Given the description of an element on the screen output the (x, y) to click on. 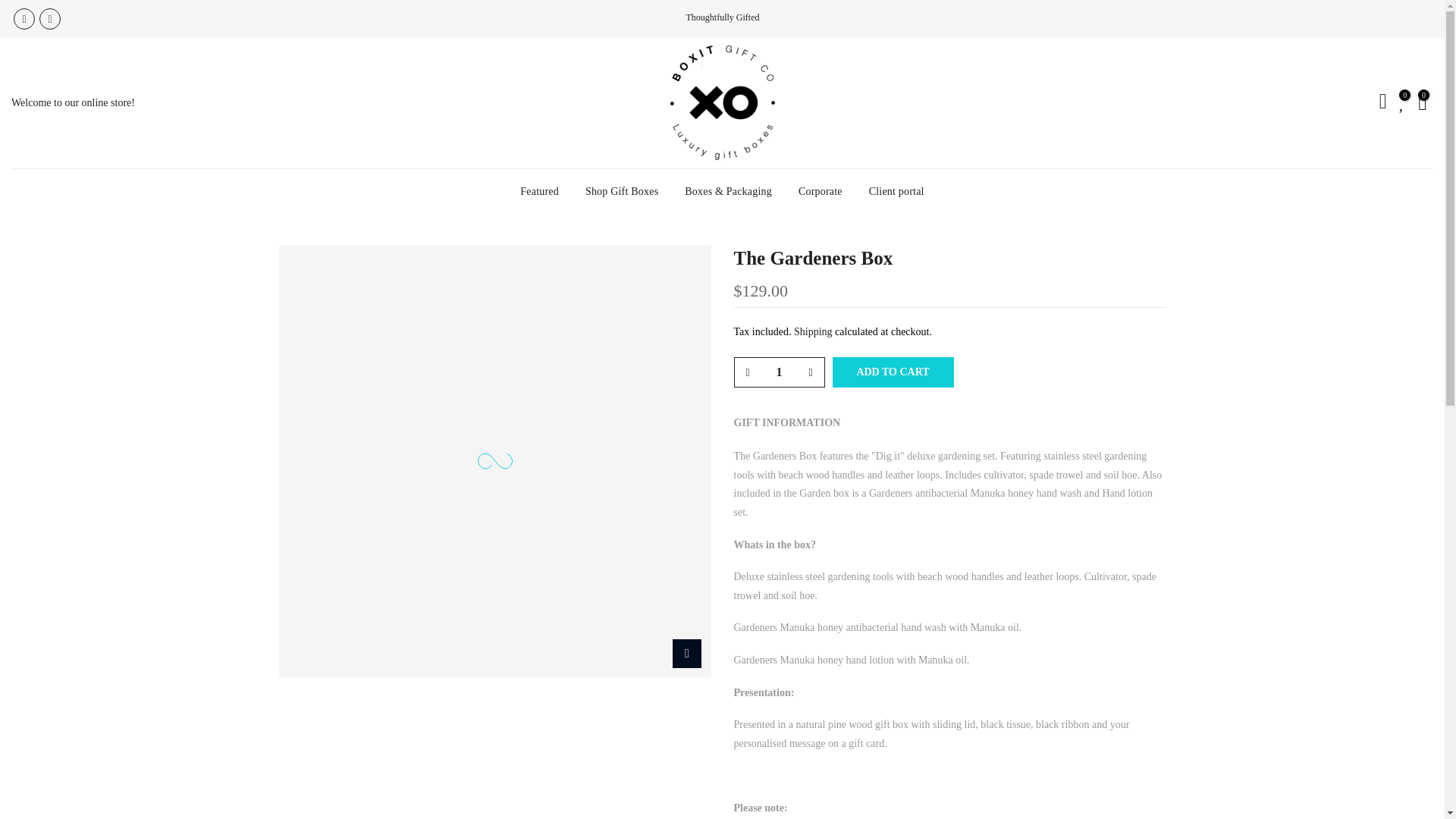
ADD TO CART (892, 372)
Shipping (812, 331)
Client portal (896, 191)
Featured (539, 191)
Corporate (820, 191)
1 (778, 371)
Shop Gift Boxes (621, 191)
